Given the description of an element on the screen output the (x, y) to click on. 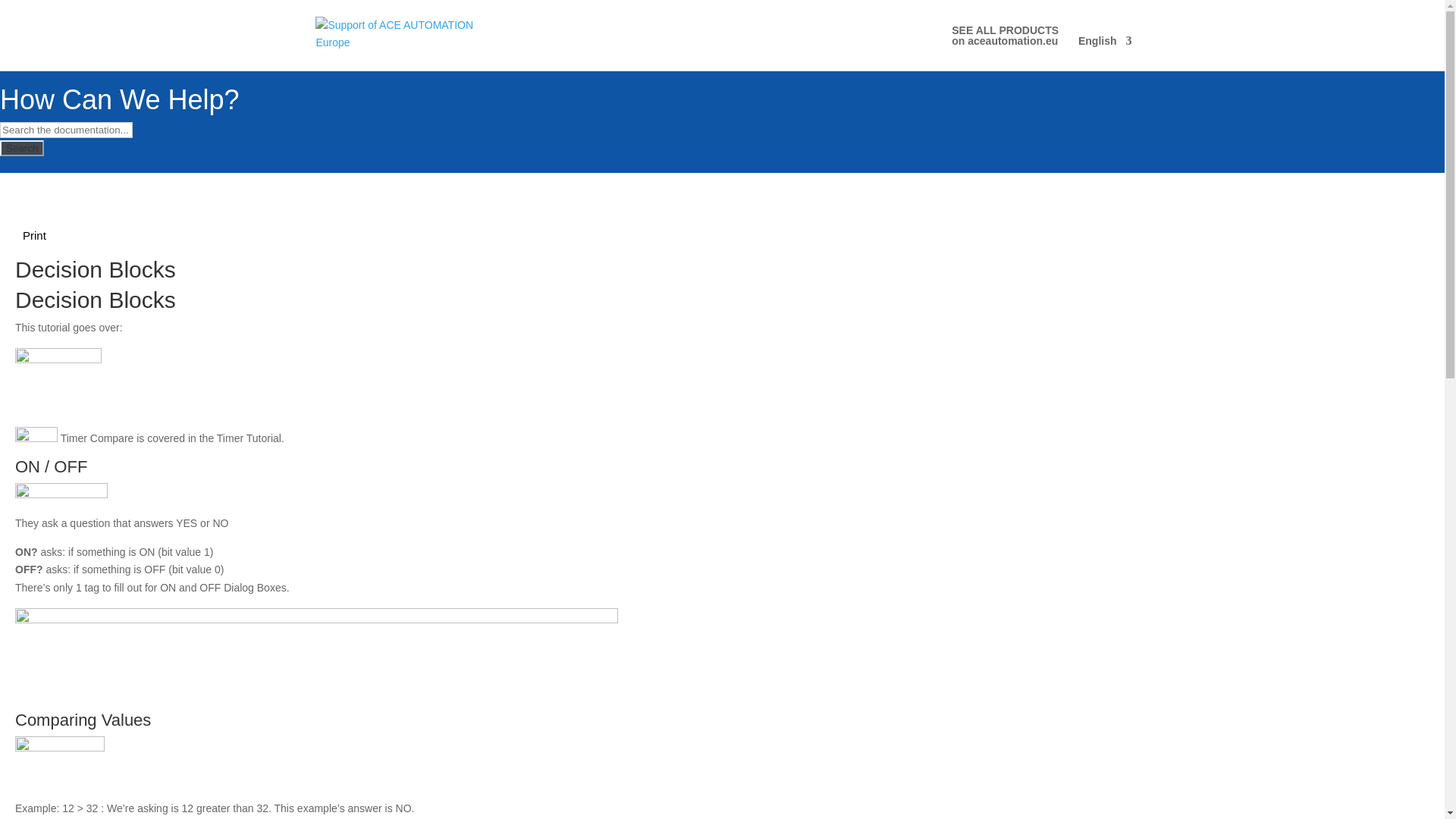
Search (21, 148)
English (1005, 48)
English (1105, 53)
